Given the description of an element on the screen output the (x, y) to click on. 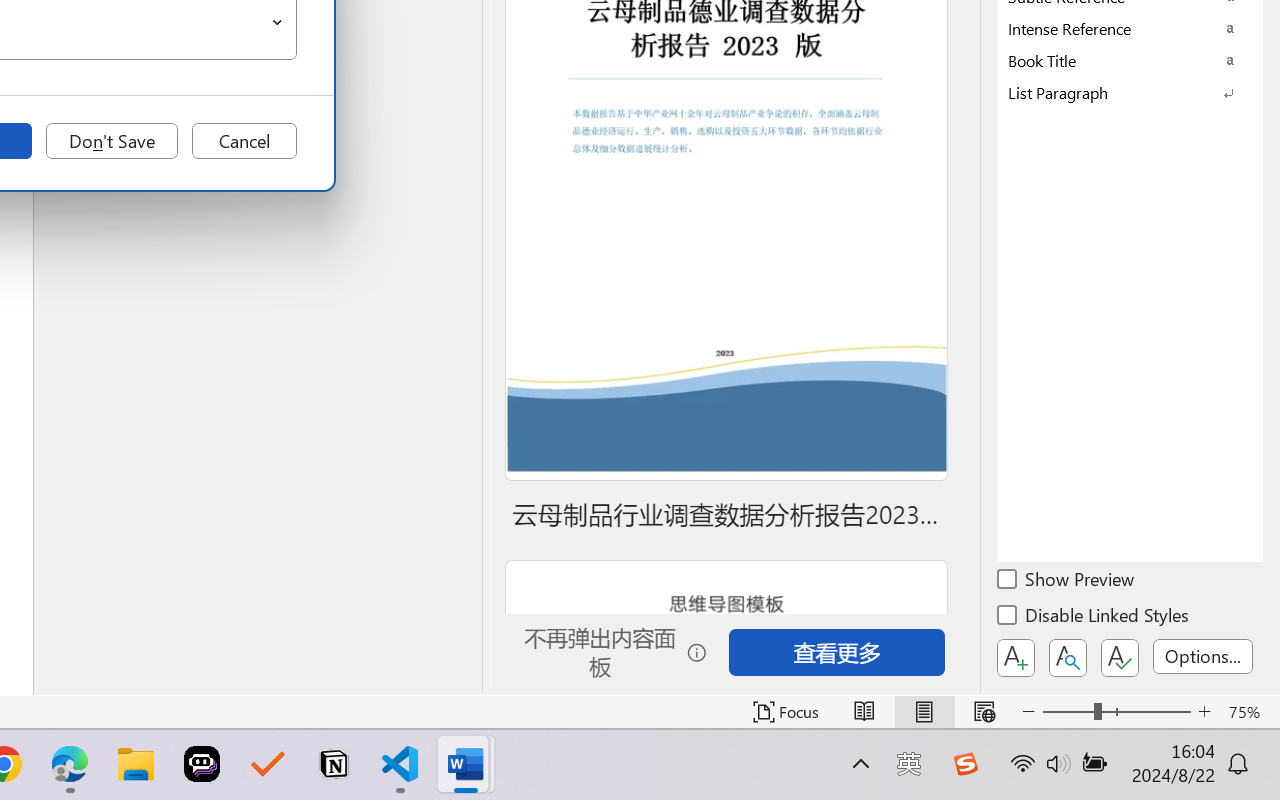
Don't Save (111, 141)
Print Layout (924, 712)
Zoom In (1204, 712)
